Given the description of an element on the screen output the (x, y) to click on. 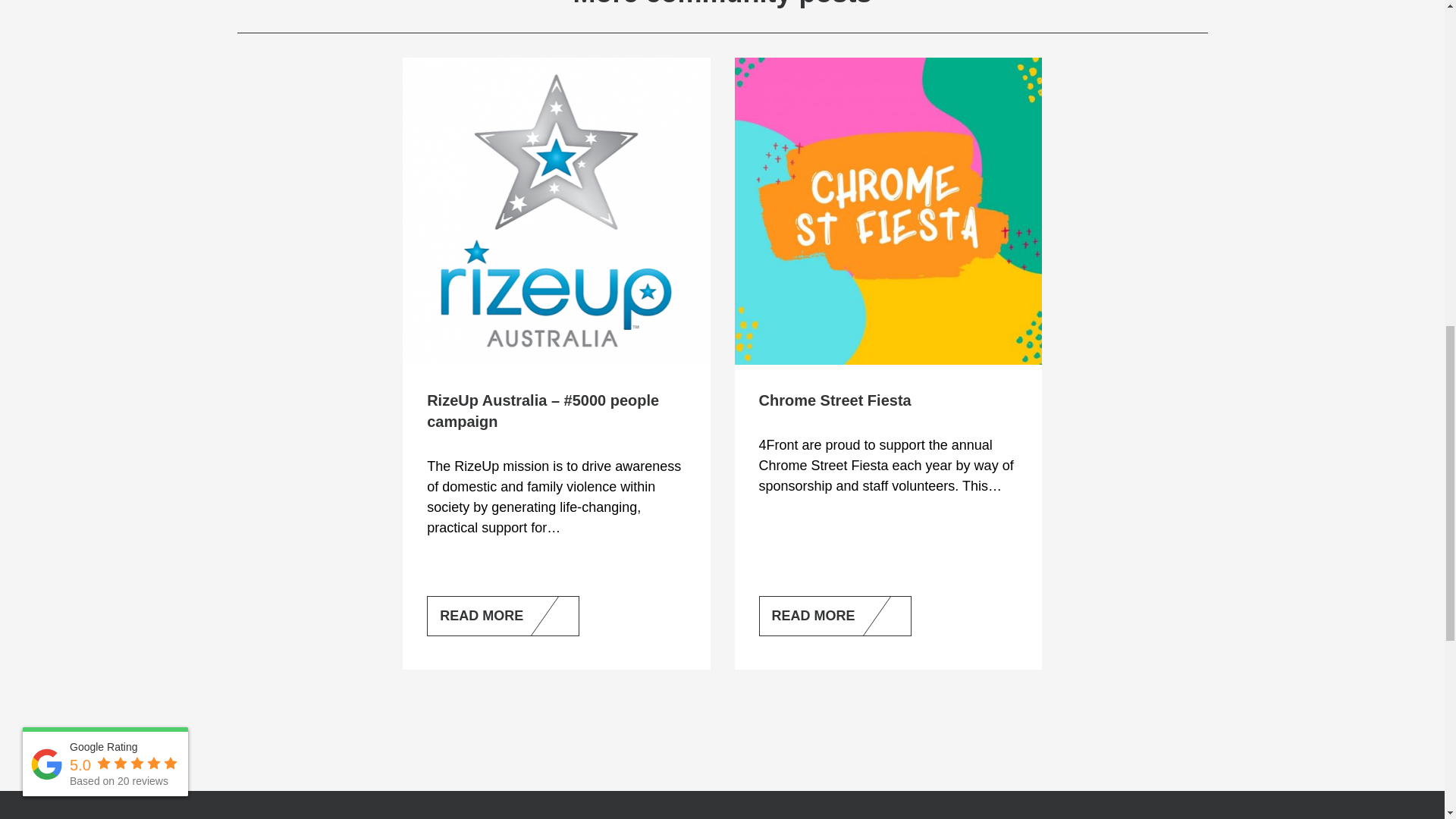
READ MORE (502, 616)
